Given the description of an element on the screen output the (x, y) to click on. 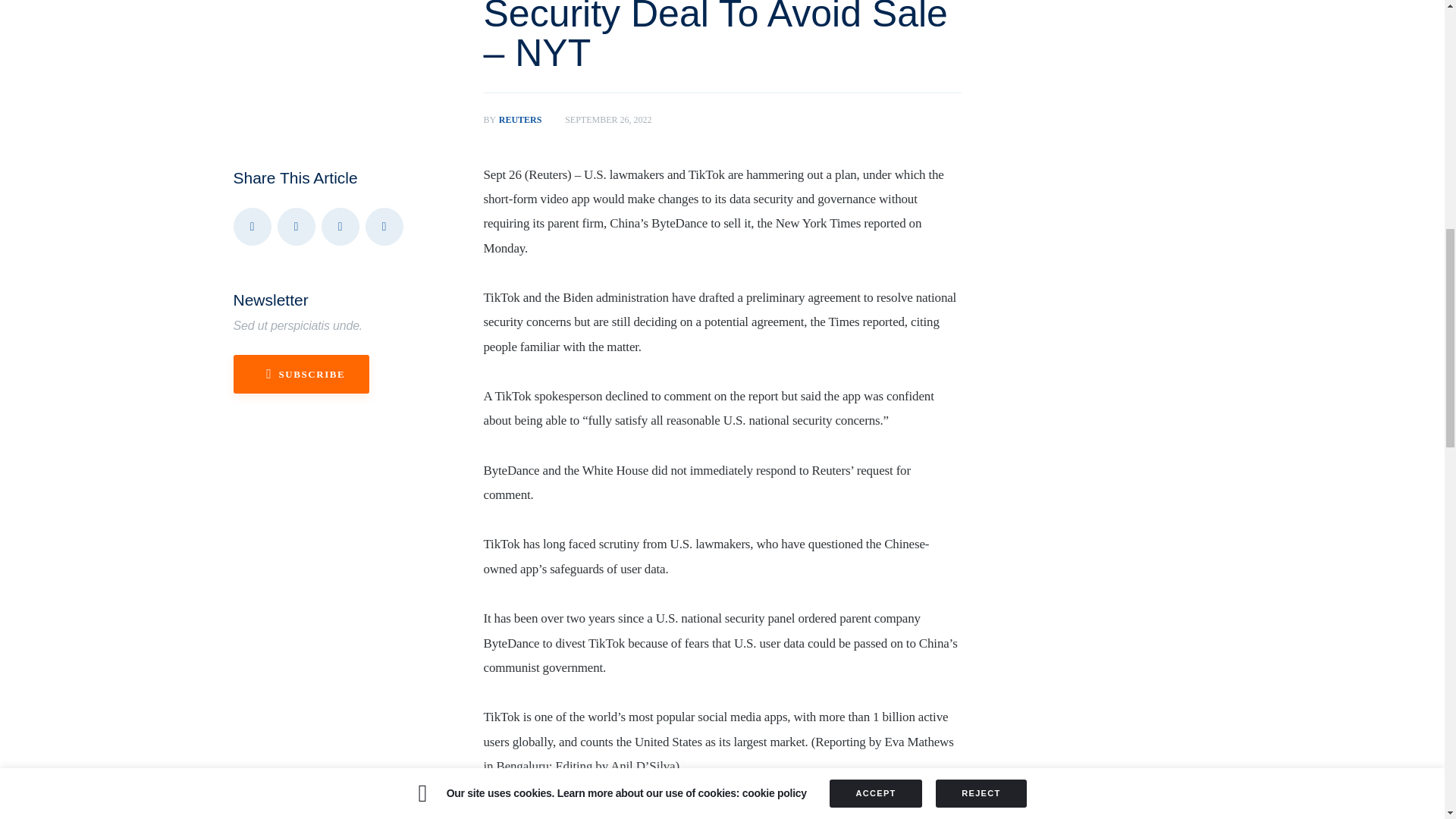
Copy URL to clipboard (524, 119)
